Given the description of an element on the screen output the (x, y) to click on. 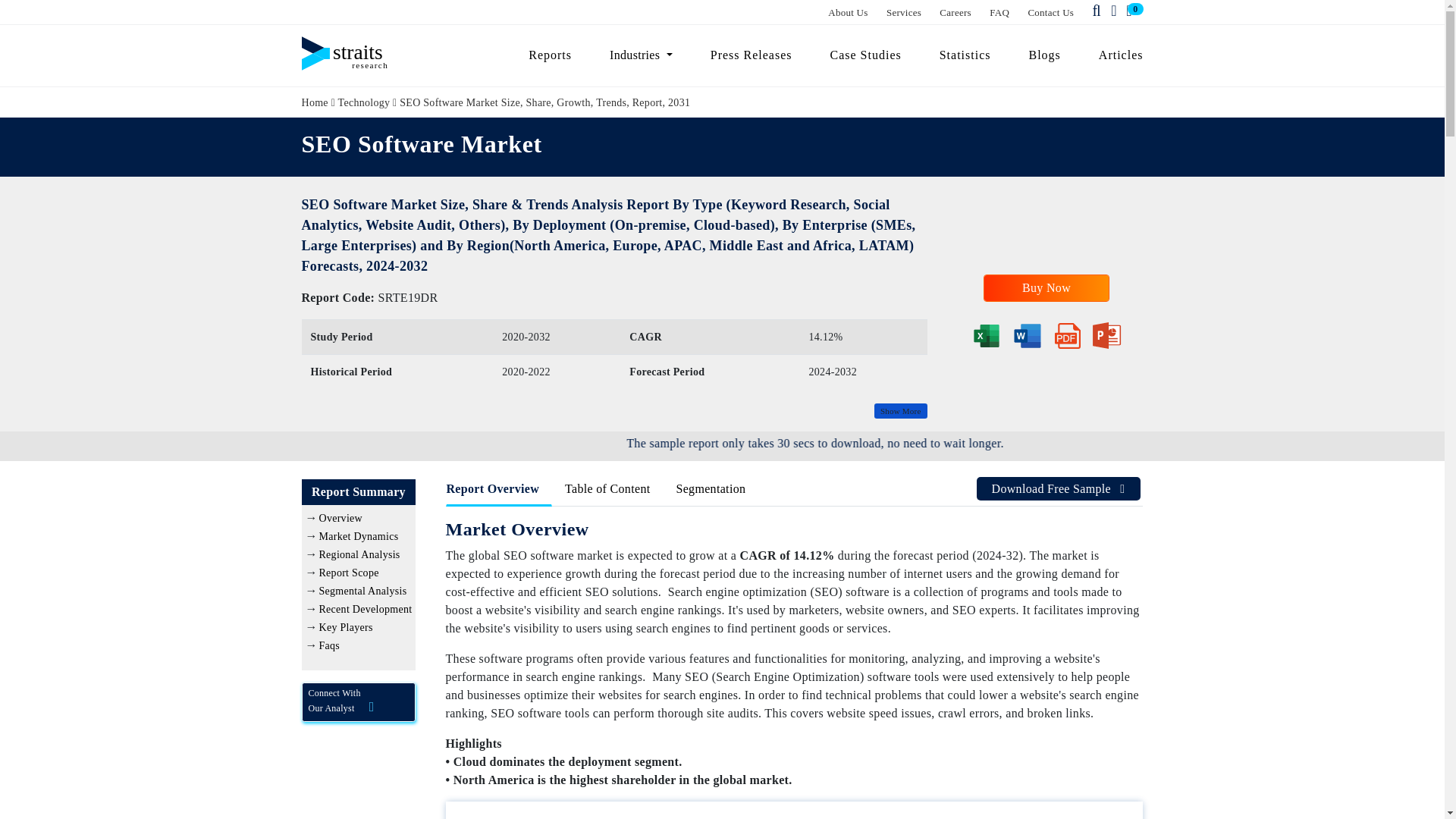
Faqs (328, 645)
Segmental Analysis (362, 591)
FAQ (999, 12)
Reports (549, 55)
Blogs (1044, 55)
Recent Development (365, 609)
Home (315, 102)
Services (903, 12)
About Us (847, 12)
Careers (955, 12)
Case Studies (865, 55)
Statistics (965, 55)
Press Releases (750, 55)
0 (1130, 11)
Cart (1130, 11)
